Given the description of an element on the screen output the (x, y) to click on. 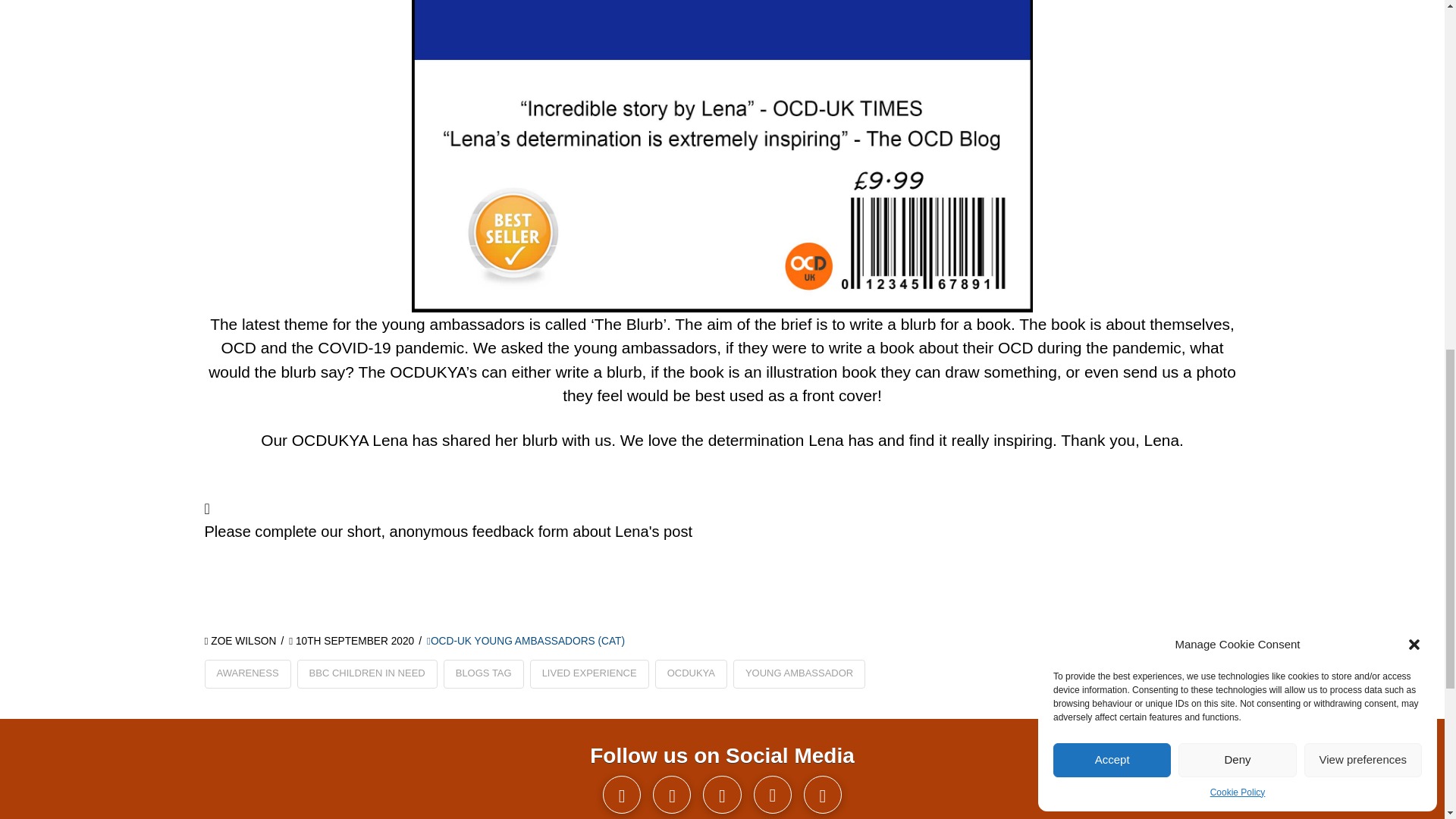
YOUNG AMBASSADOR (798, 674)
OCDUKYA (690, 674)
AWARENESS (248, 674)
BBC CHILDREN IN NEED (367, 674)
BLOGS TAG (484, 674)
LIVED EXPERIENCE (589, 674)
